Given the description of an element on the screen output the (x, y) to click on. 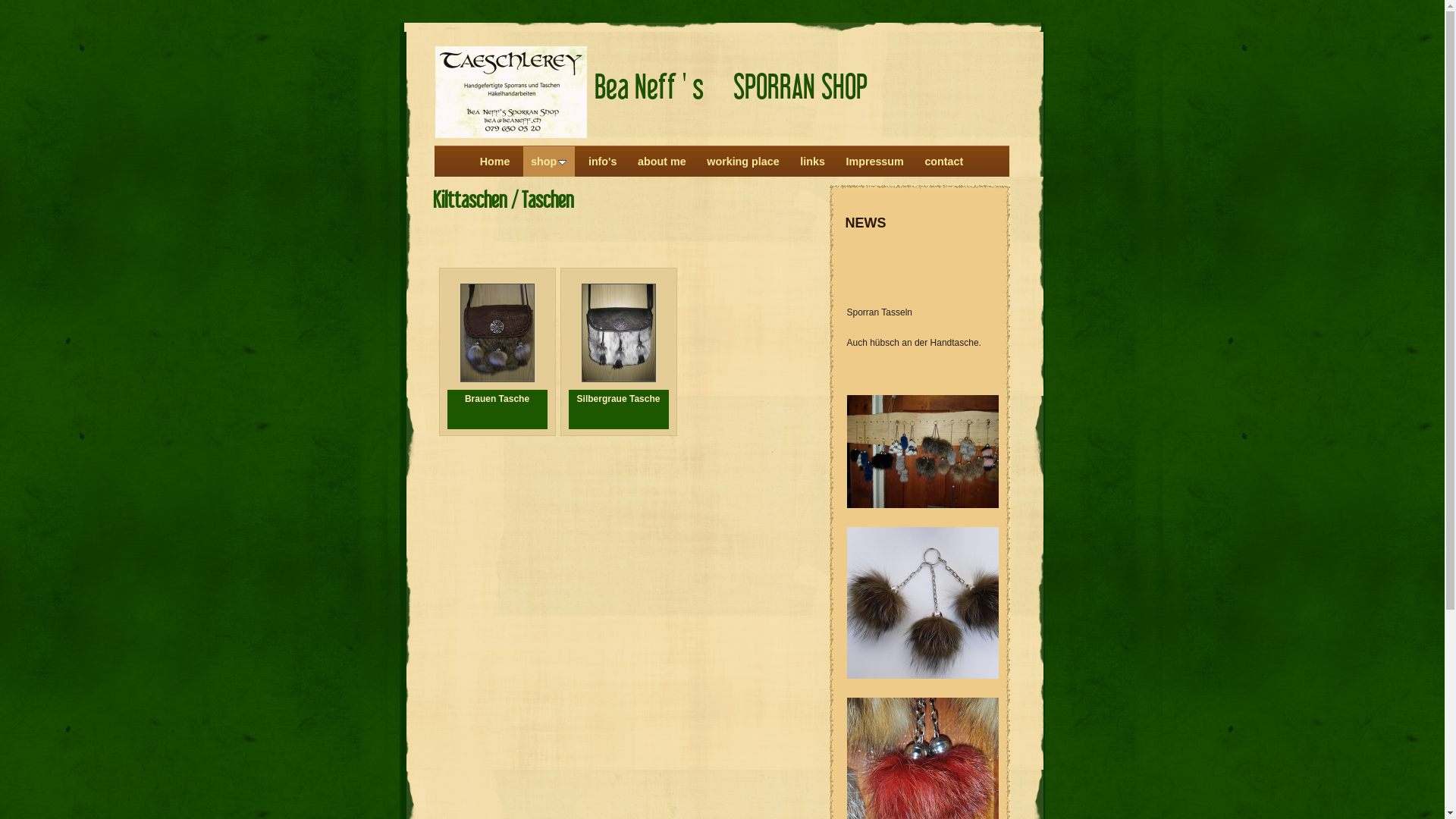
Brauen Tasche Element type: text (496, 398)
Impressum Element type: text (873, 161)
working place Element type: text (742, 161)
links Element type: text (812, 161)
info's Element type: text (602, 161)
about me Element type: text (661, 161)
Silbergraue Tasche Element type: text (618, 398)
shop Element type: text (548, 161)
contact Element type: text (943, 161)
Home Element type: text (494, 161)
Bea Neff ' s   SPORRAN SHOP Element type: text (730, 86)
